Given the description of an element on the screen output the (x, y) to click on. 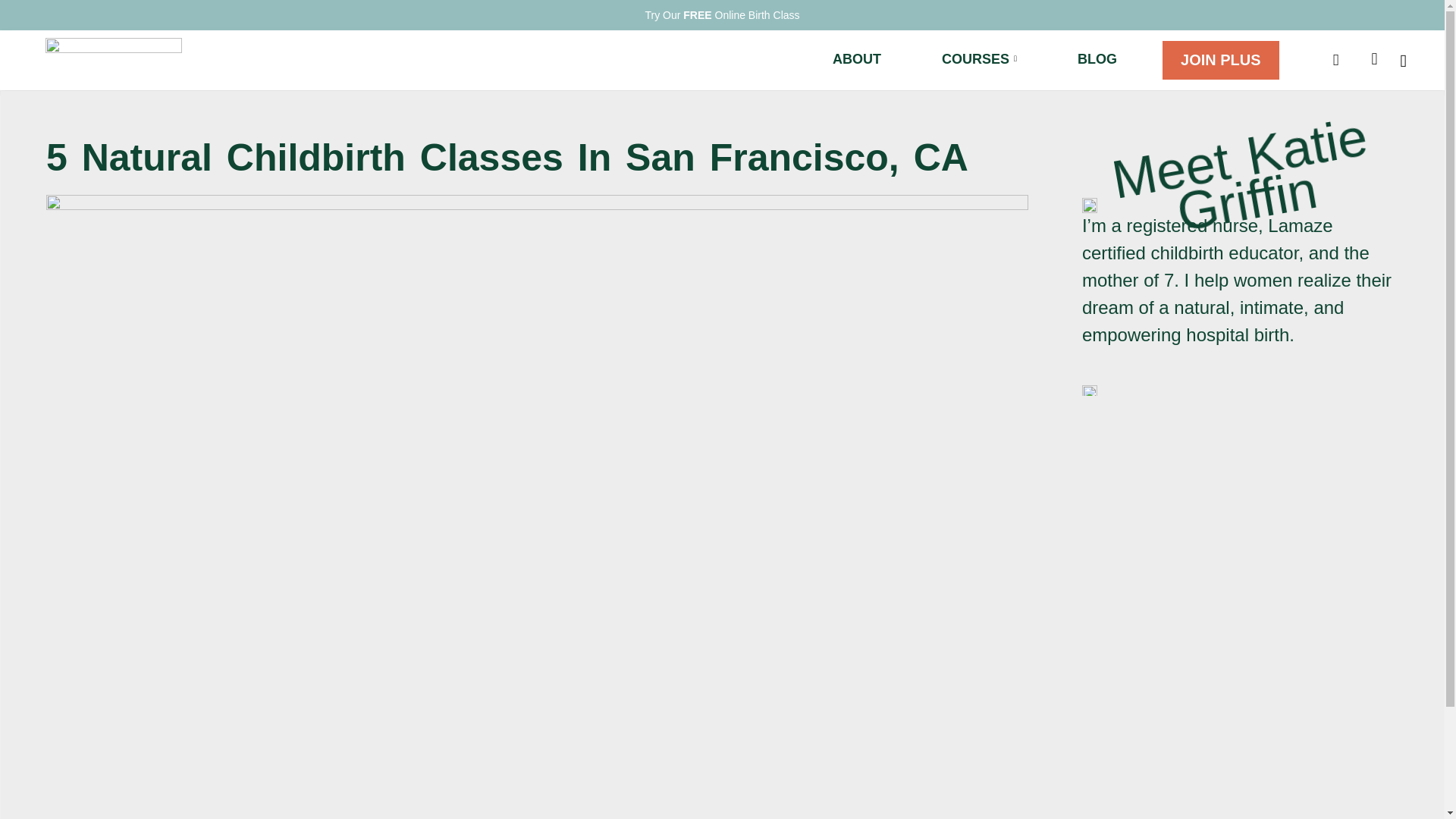
Try Our FREE Online Birth Class (722, 15)
BLOG (1096, 59)
ABOUT (856, 59)
COURSES (979, 59)
